Given the description of an element on the screen output the (x, y) to click on. 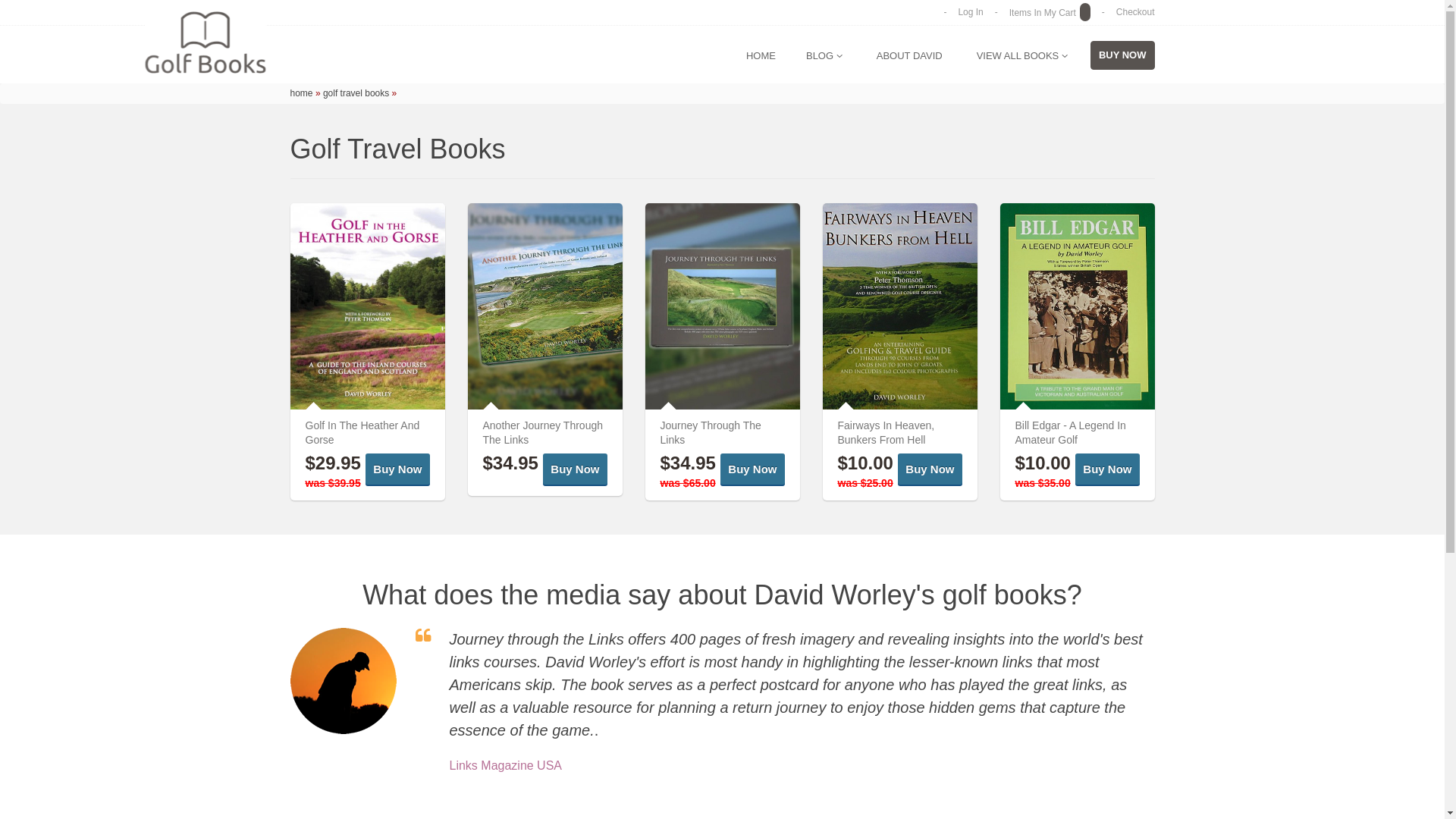
Code journey Element type: hover (721, 306)
Code githag Element type: hover (366, 306)
Code BE01 Element type: hover (1076, 306)
VIEW ALL BOOKS Element type: text (1022, 56)
Log In Element type: text (969, 11)
Buy Now Element type: text (574, 468)
Items In My Cart Element type: text (1049, 12)
Buy Now Element type: text (752, 468)
home Element type: text (300, 92)
Another Journey Through The Links Element type: text (542, 432)
Fairways In Heaven, Bunkers From Hell Element type: text (885, 432)
ABOUT DAVID Element type: text (909, 56)
Golf In The Heather And Gorse Element type: text (361, 432)
BUY NOW Element type: text (1122, 54)
Buy Now Element type: text (929, 468)
BLOG Element type: text (823, 56)
Buy Now Element type: text (1107, 468)
Code fwinheav Element type: hover (899, 306)
Code ajttl_2010 Element type: hover (544, 306)
Journey Through The Links Element type: text (709, 432)
Checkout Element type: text (1135, 11)
Buy Now Element type: text (397, 468)
Bill Edgar - A Legend In Amateur Golf Element type: text (1069, 432)
